Given the description of an element on the screen output the (x, y) to click on. 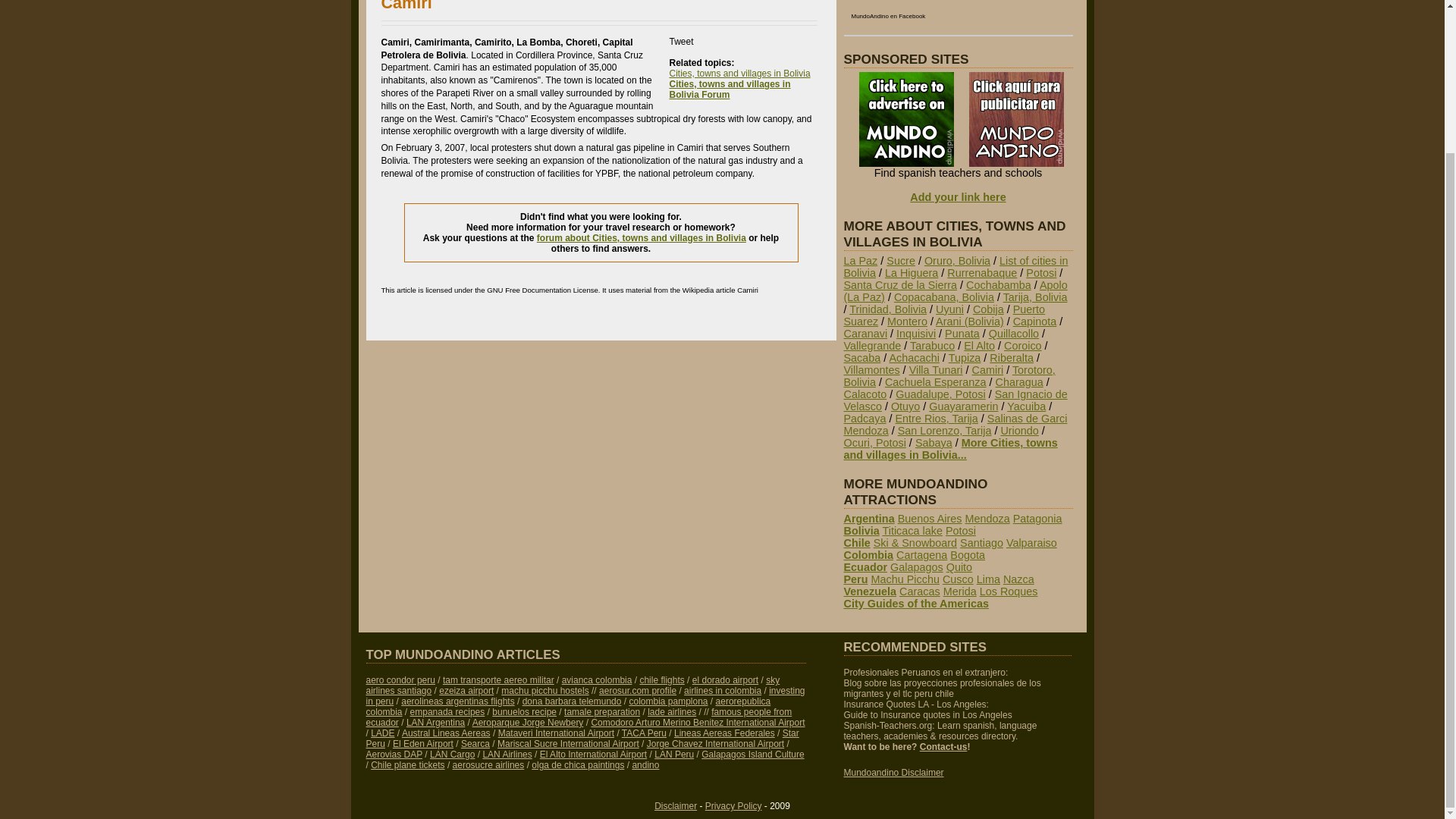
Inquisivi (916, 333)
ministro pistarini - ezeiza airport (466, 690)
Cochabamba (998, 285)
Airlines of Chile (571, 685)
machu picchu (544, 690)
Capinota (1035, 321)
Caranavi (864, 333)
Santa Cruz de la Sierra (899, 285)
La Paz (860, 260)
Montero (906, 321)
Bogota airport (725, 679)
Copacabana, Bolivia (943, 297)
Punata (961, 333)
Tarija, Bolivia (1035, 297)
Peru Economy (585, 695)
